Given the description of an element on the screen output the (x, y) to click on. 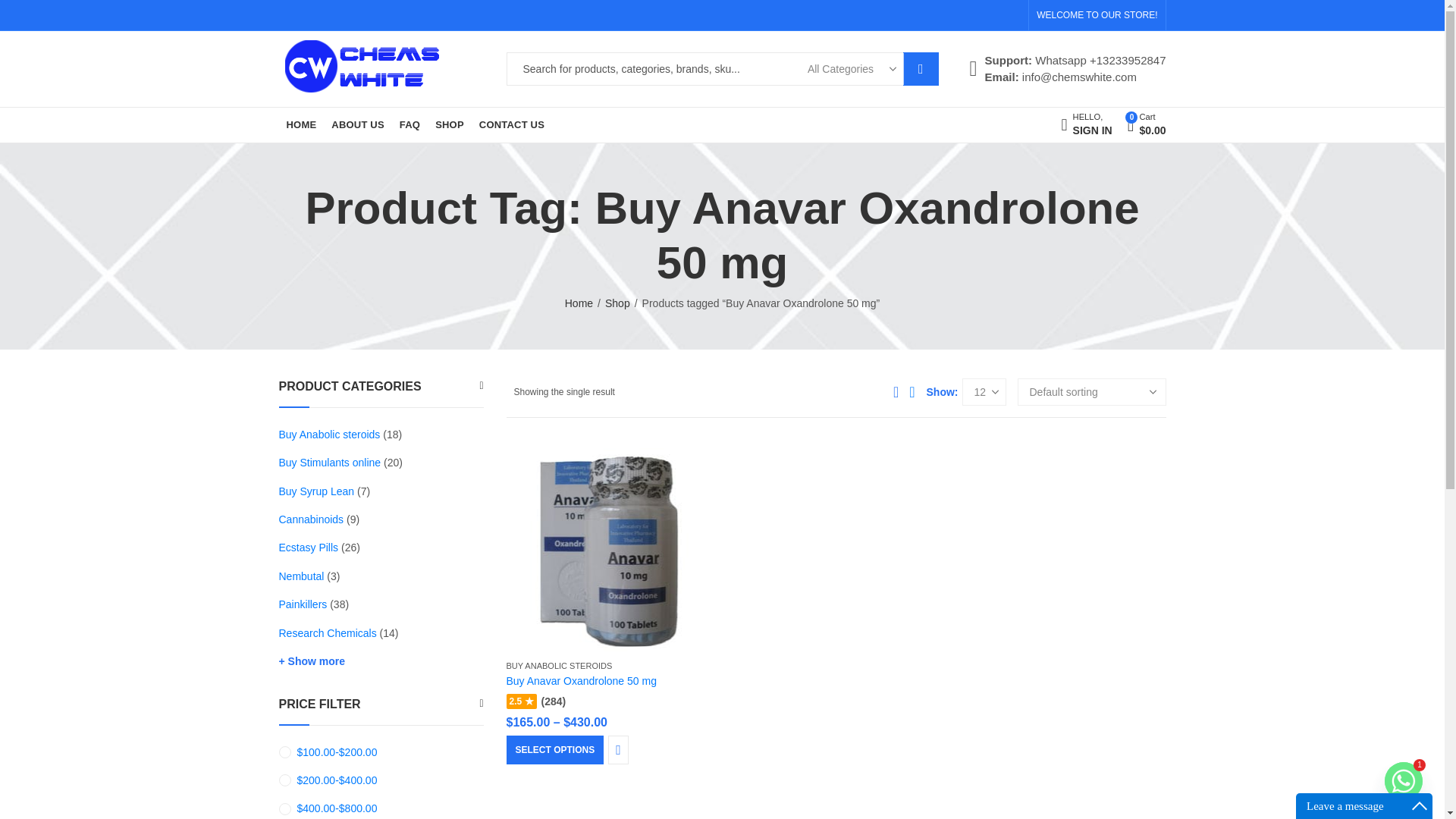
BUY ANABOLIC STEROIDS (559, 665)
HOME (301, 125)
Ecstasy Pills (309, 547)
Home (578, 303)
ABOUT US (357, 125)
Buy Anavar Oxandrolone 50 mg (581, 680)
SELECT OPTIONS (555, 749)
Buy Syrup Lean (317, 491)
CONTACT US (511, 125)
Shop (617, 303)
Maximize (1419, 805)
SEARCH (920, 68)
Buy Stimulants online (1086, 125)
Cannabinoids (330, 462)
